Given the description of an element on the screen output the (x, y) to click on. 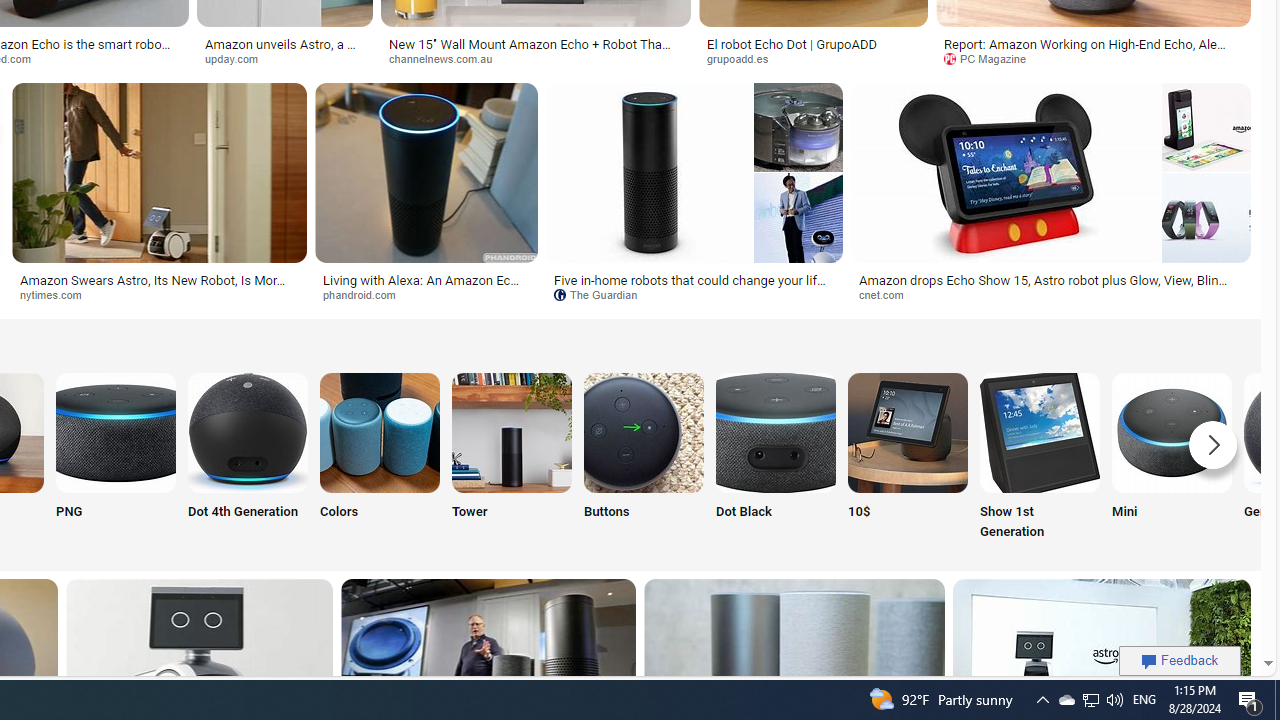
Amazon Echo Buttons (643, 432)
channelnews.com.au (536, 58)
Amazon Echo Mini Mini (1171, 458)
Amazon Echo Tower Tower (511, 458)
Buttons (643, 457)
